Given the description of an element on the screen output the (x, y) to click on. 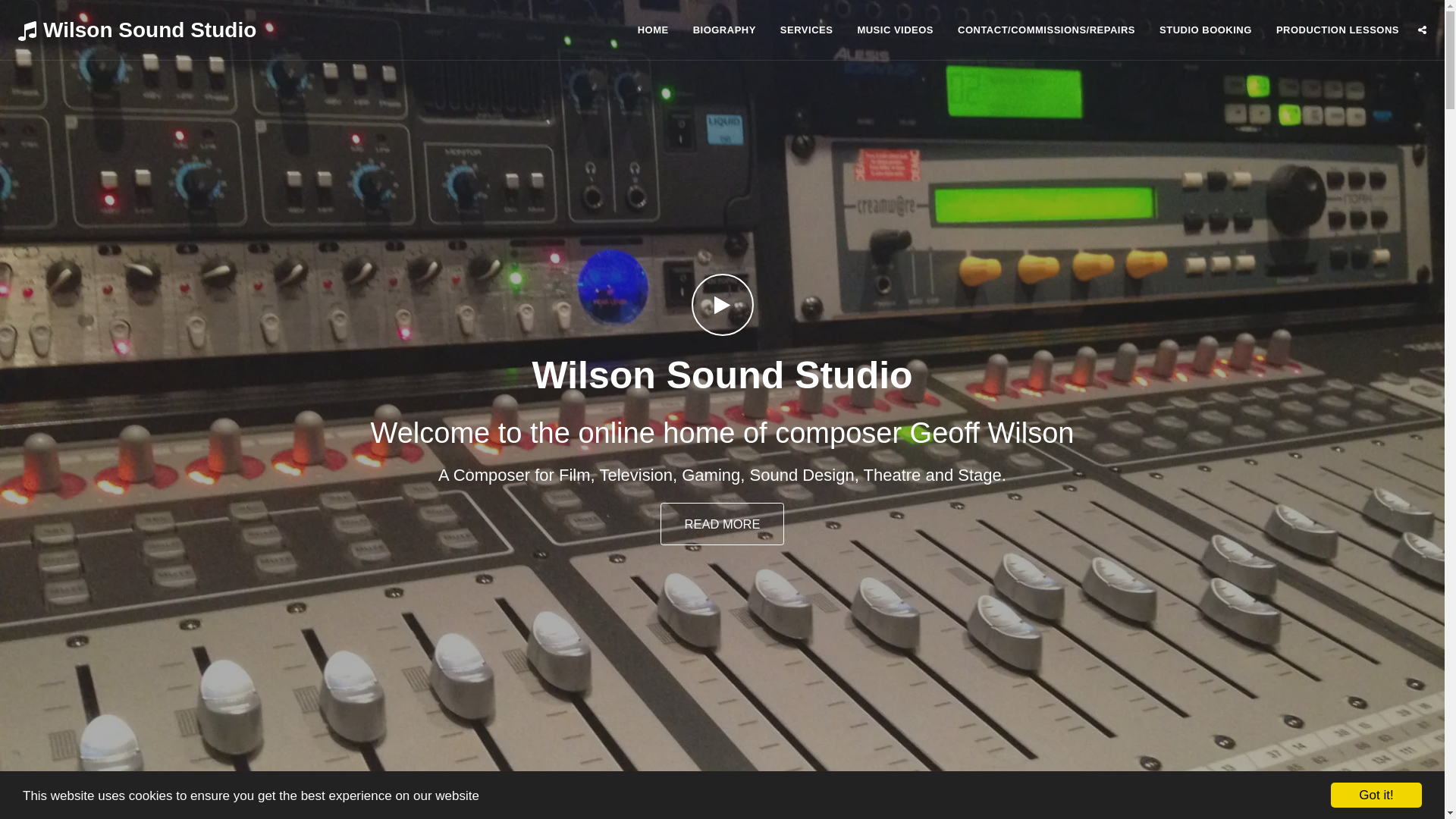
READ MORE (722, 523)
HOME (652, 29)
PRODUCTION LESSONS (1337, 29)
STUDIO BOOKING (1205, 29)
SERVICES (806, 29)
BIOGRAPHY (724, 29)
MUSIC VIDEOS (894, 29)
Wilson Sound Studio (133, 30)
